Given the description of an element on the screen output the (x, y) to click on. 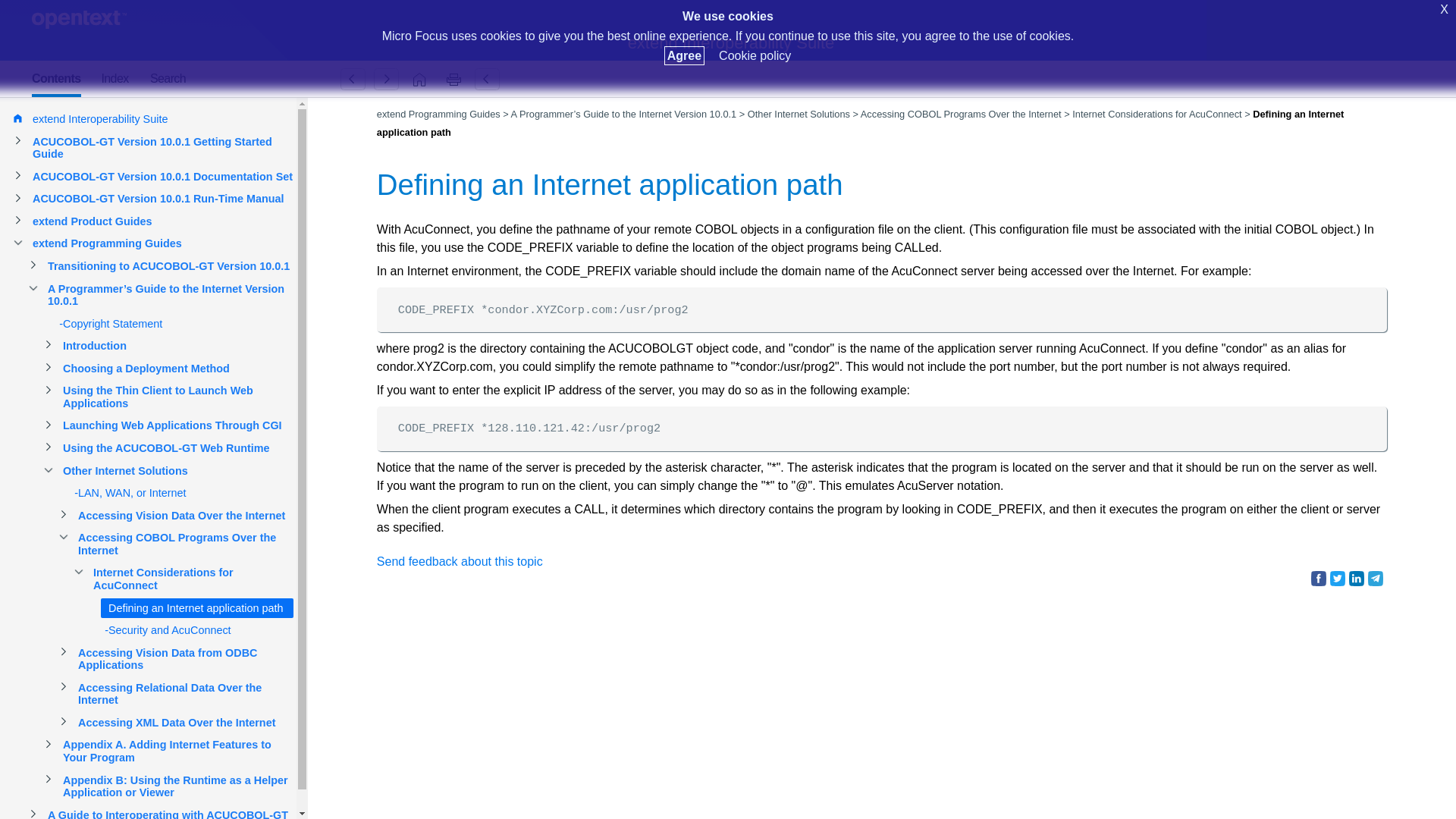
Security and AcuConnect (386, 78)
Cookie policy (754, 55)
Agree (684, 55)
Internet Considerations for AcuConnect (352, 78)
